Given the description of an element on the screen output the (x, y) to click on. 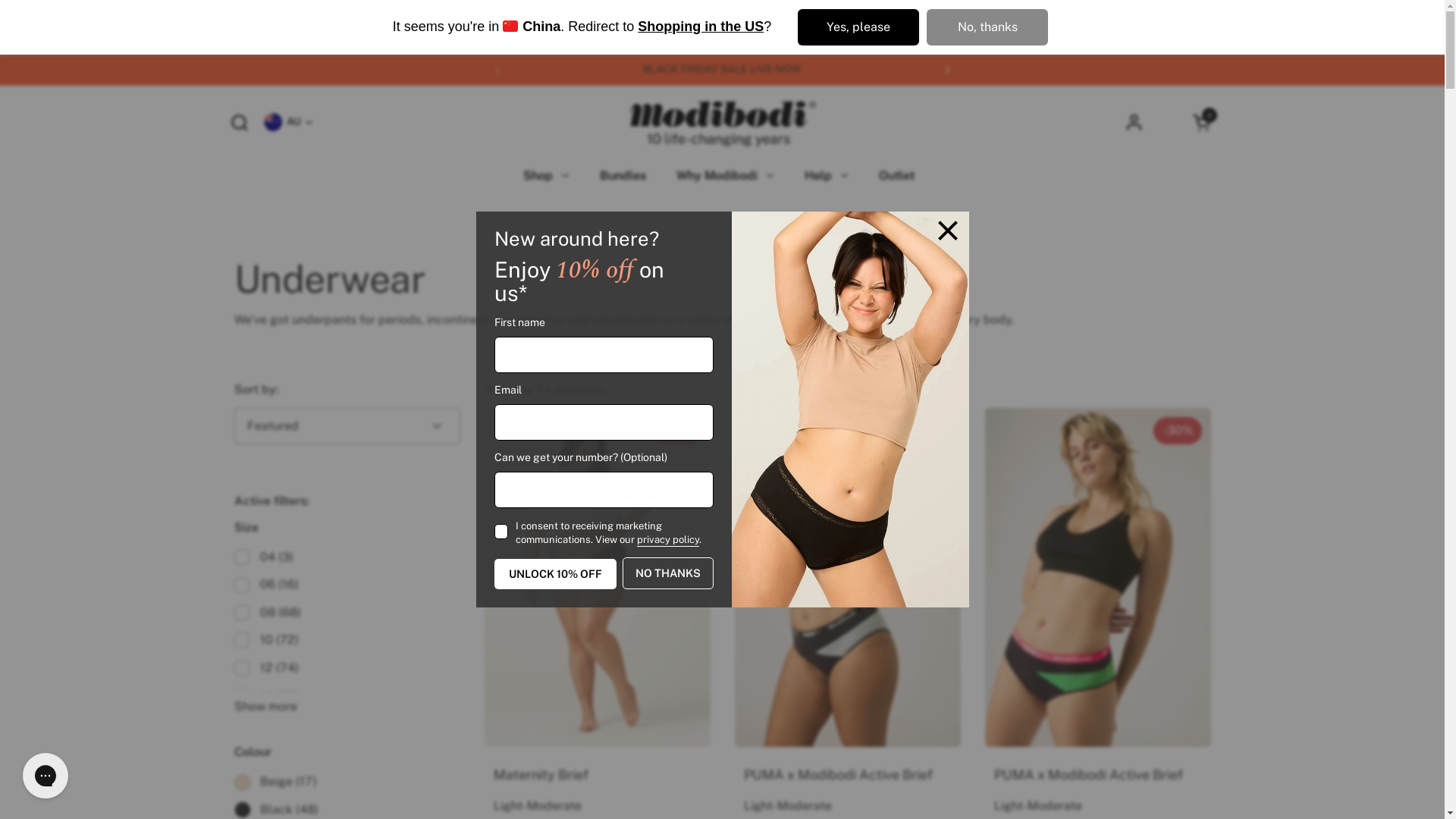
Gorgias live chat messenger Element type: hover (45, 775)
Get Up To 25% off Holiday Packs Element type: text (1171, 69)
Outlet Element type: text (895, 175)
Bundles Element type: text (621, 175)
Yes, please Element type: text (858, 27)
PUMA x Modibodi Active Brief Element type: text (1097, 774)
NO THANKS Element type: text (667, 573)
Open search Element type: hover (238, 121)
UNLOCK 10% OFF Element type: text (555, 573)
PUMA x Modibodi Active Brief Element type: text (846, 774)
Help Element type: text (825, 175)
Modibodi AU Element type: hover (721, 121)
No, thanks Element type: text (987, 27)
Why Modibodi Element type: text (725, 175)
Maternity Brief Element type: text (596, 774)
Shopping in the US Element type: text (700, 26)
Shop Element type: text (546, 175)
privacy policy Element type: text (668, 539)
BLACK FRIDAY SALE LIVE NOW Element type: text (721, 69)
Open cart
0 Element type: text (1203, 121)
